Given the description of an element on the screen output the (x, y) to click on. 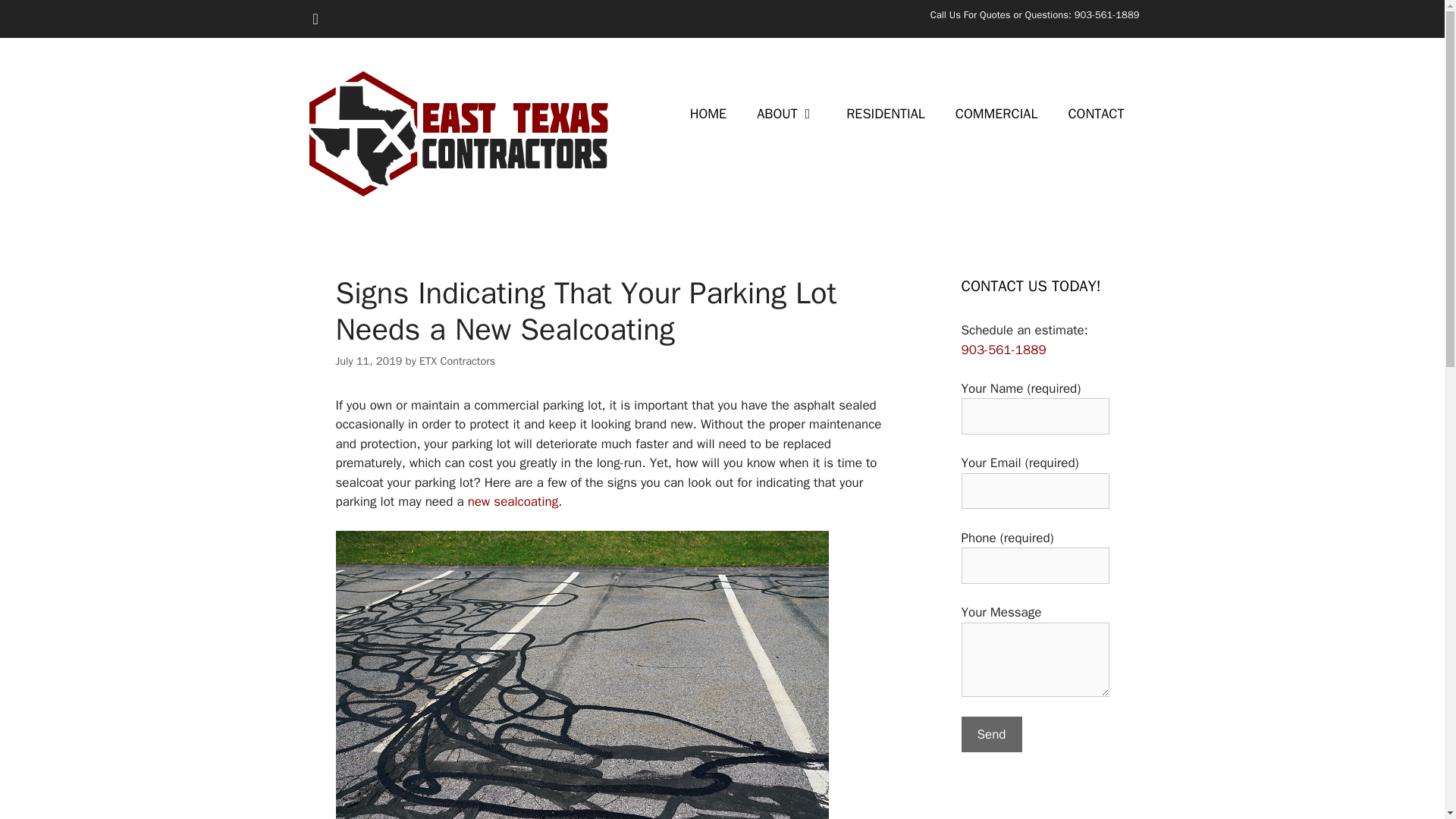
East Texas Contractors (457, 132)
CONTACT (1095, 113)
RESIDENTIAL (885, 113)
July 11, 2019 (367, 360)
HOME (708, 113)
Send (991, 733)
903-561-1889 (1003, 349)
Send (991, 733)
903-561-1889 (1107, 14)
new sealcoating (513, 501)
View all posts by ETX Contractors (457, 360)
2:16 am (367, 360)
East Texas Contractors (457, 133)
ETX Contractors (457, 360)
